Given the description of an element on the screen output the (x, y) to click on. 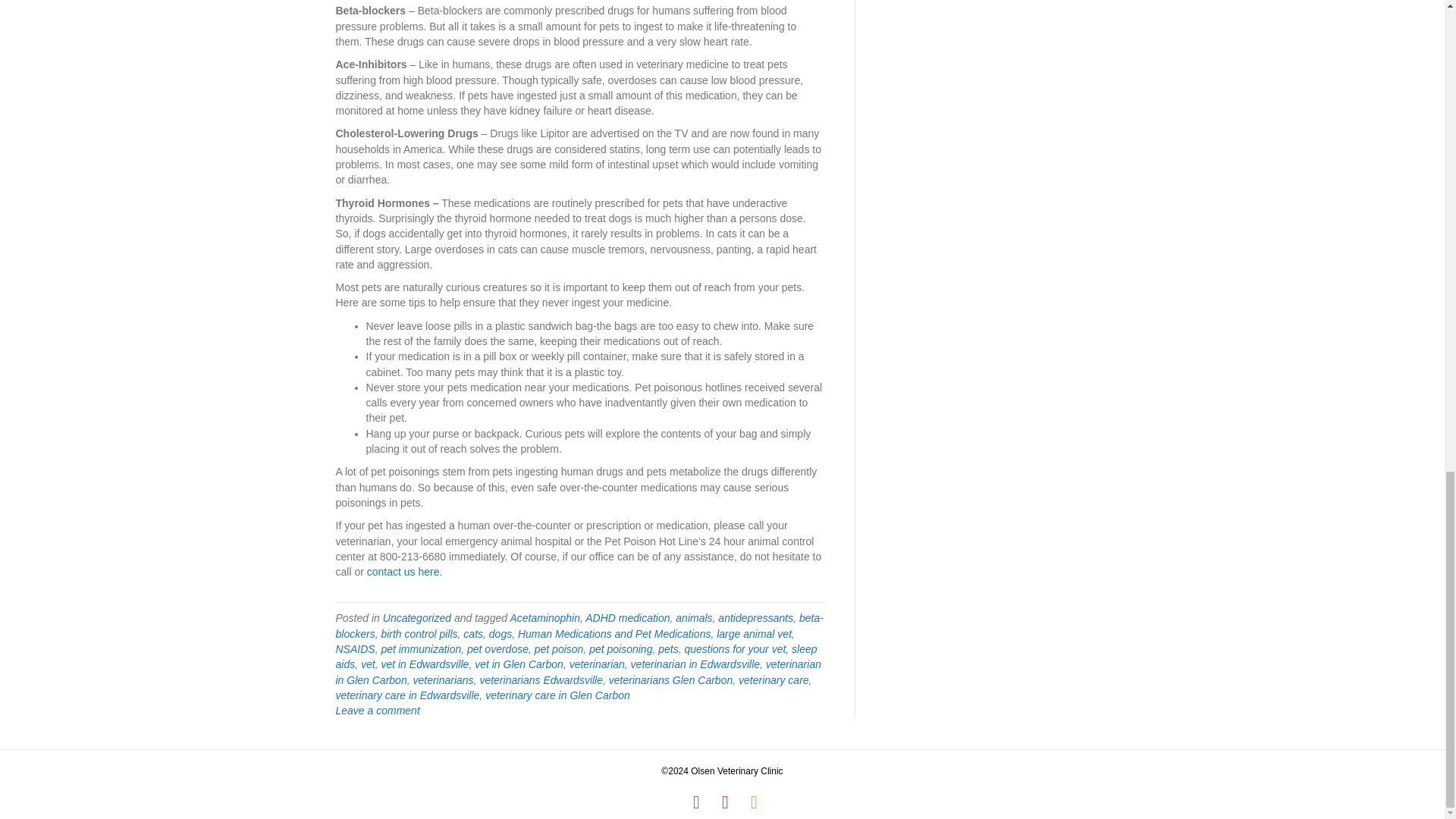
beta-blockers (578, 625)
contact us here. (404, 571)
dogs (500, 633)
ADHD medication (627, 617)
Human Medications and Pet Medications (614, 633)
pet overdose (497, 648)
large animal vet (754, 633)
Acetaminophin (544, 617)
pet immunization (420, 648)
birth control pills (418, 633)
antidepressants (755, 617)
animals (693, 617)
NSAIDS (354, 648)
cats (473, 633)
Uncategorized (416, 617)
